Given the description of an element on the screen output the (x, y) to click on. 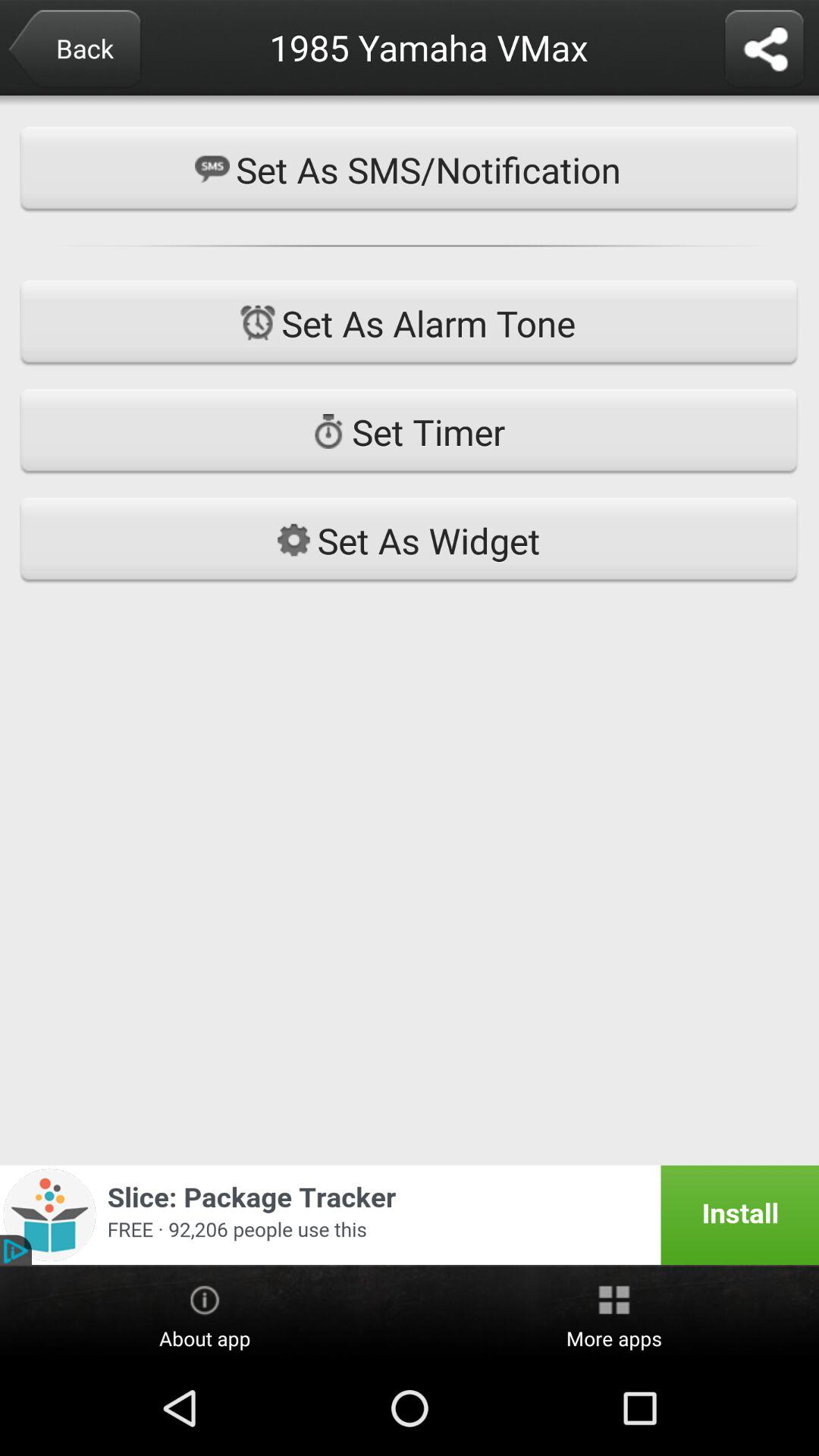
swipe until the about app button (204, 1314)
